Given the description of an element on the screen output the (x, y) to click on. 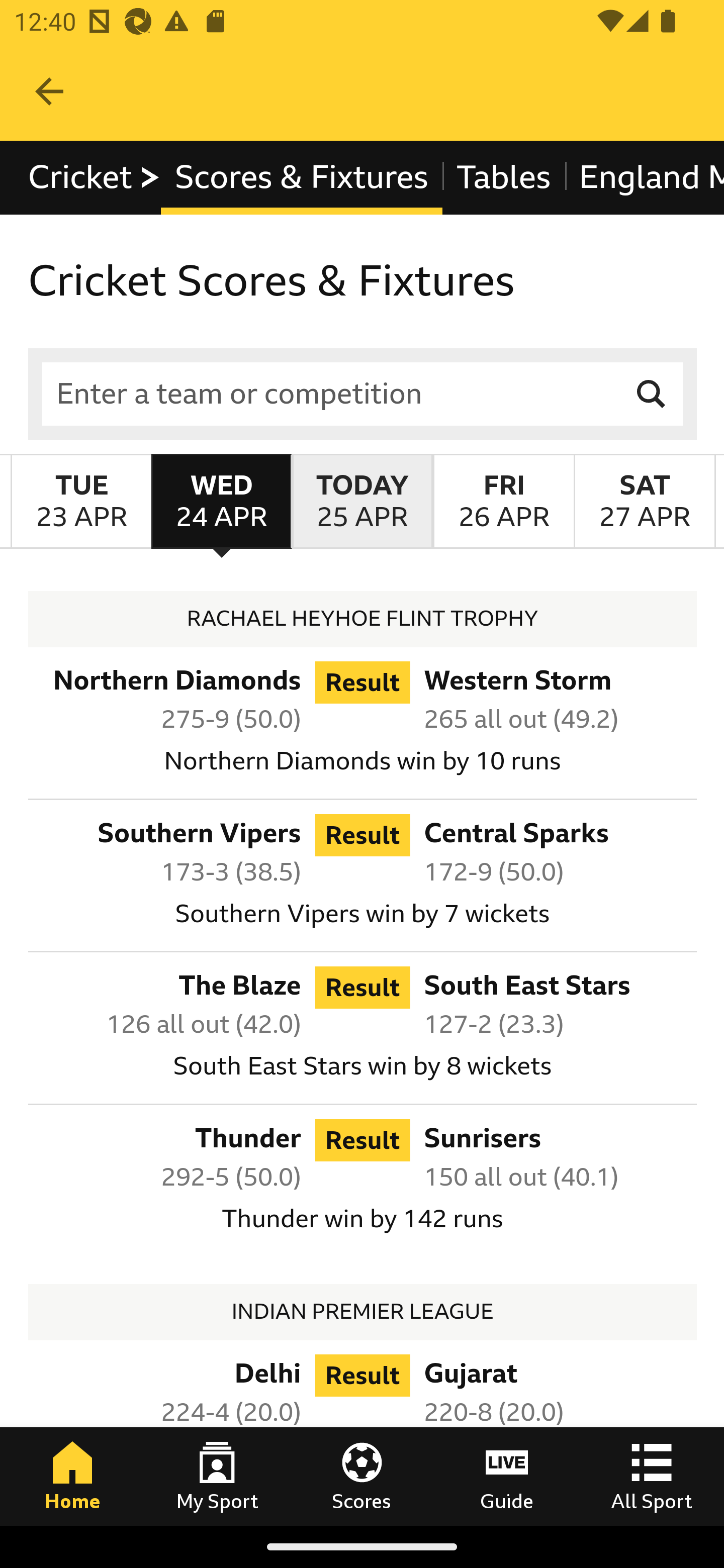
Navigate up (49, 91)
Cricket  (95, 177)
Scores & Fixtures (301, 177)
Tables (503, 177)
Search (651, 393)
TuesdayApril 23rd Tuesday April 23rd (81, 500)
TodayApril 25th Today April 25th (361, 500)
FridayApril 26th Friday April 26th (502, 500)
SaturdayApril 27th Saturday April 27th (644, 500)
My Sport (216, 1475)
Scores (361, 1475)
Guide (506, 1475)
All Sport (651, 1475)
